Given the description of an element on the screen output the (x, y) to click on. 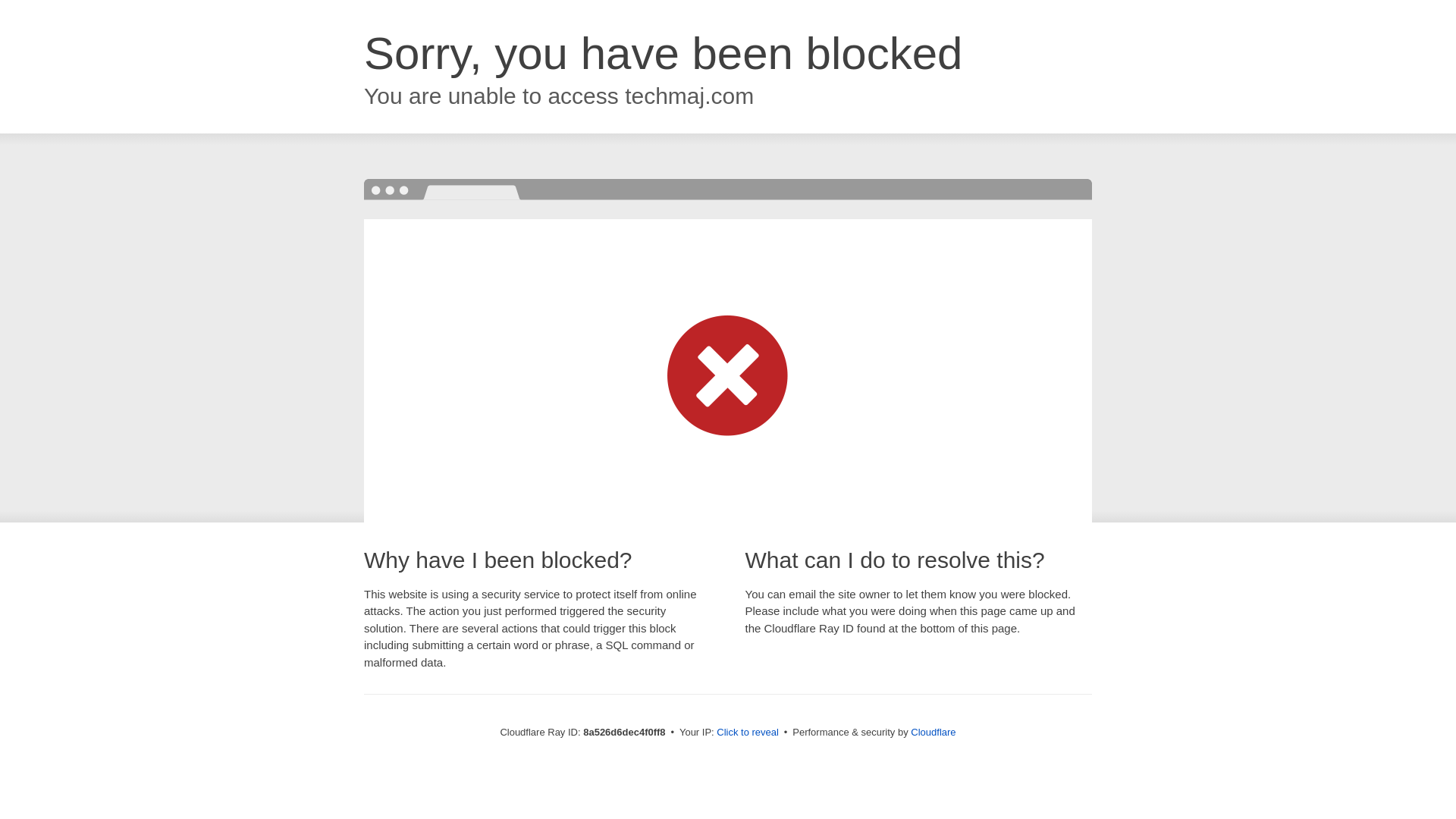
Click to reveal (747, 732)
Cloudflare (933, 731)
